Given the description of an element on the screen output the (x, y) to click on. 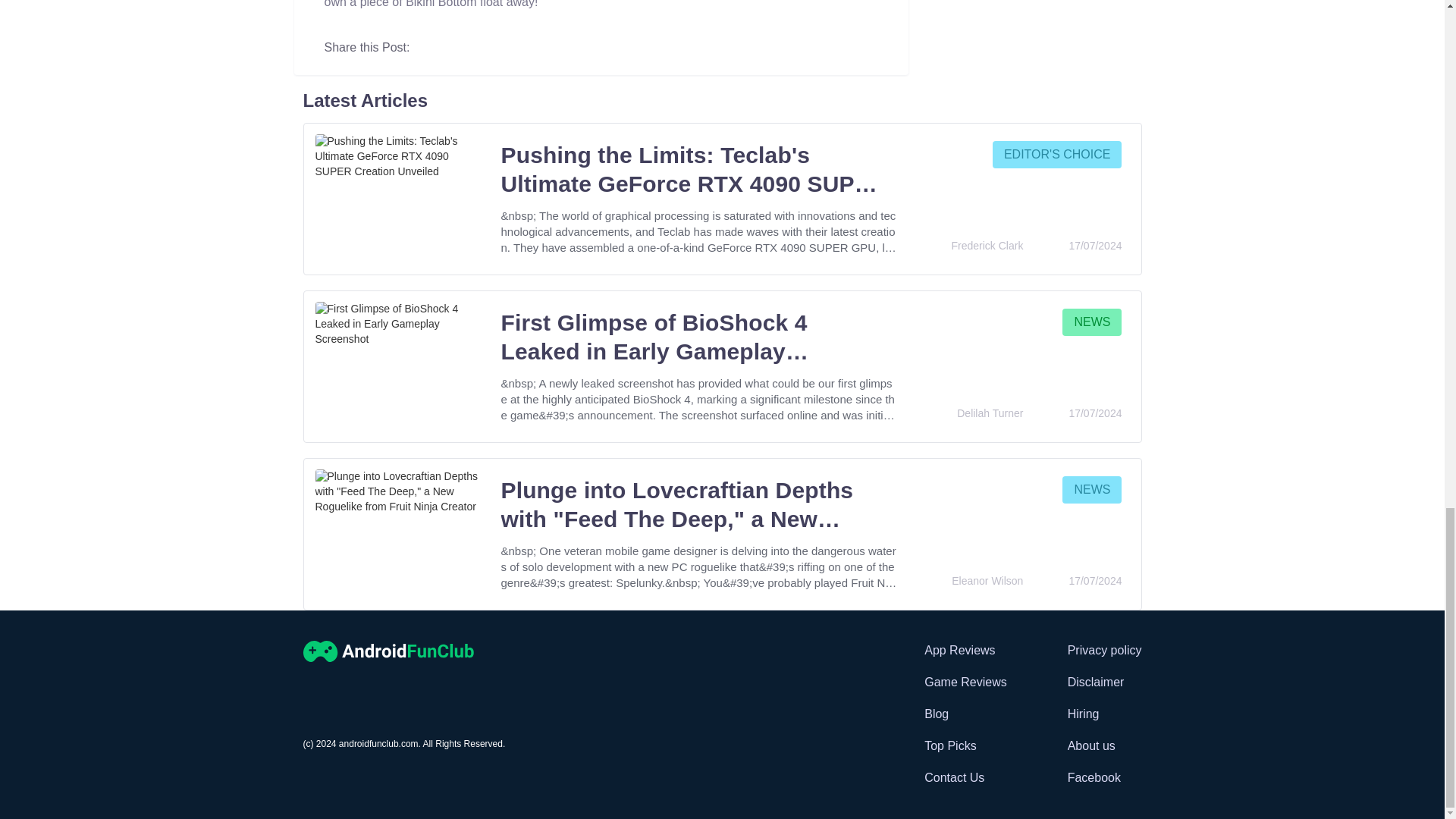
App Reviews (965, 650)
Top Picks (965, 745)
Game Reviews (965, 682)
Blog (965, 713)
Disclaimer (1104, 682)
Hiring (1104, 713)
About us (1104, 745)
Privacy policy (1104, 650)
Contact Us (965, 777)
